Given the description of an element on the screen output the (x, y) to click on. 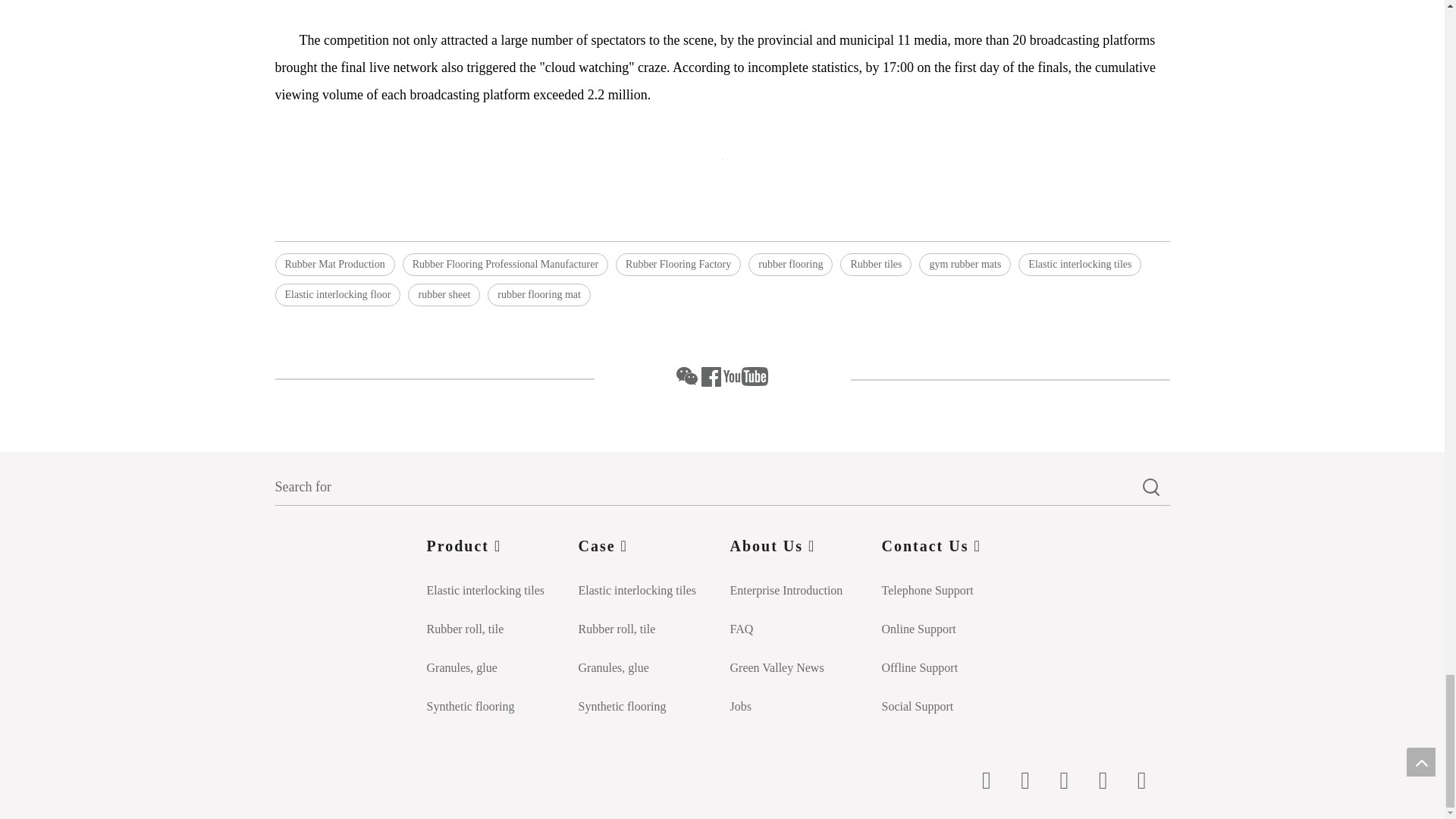
Rubber Mat Production (334, 264)
Rubber Flooring Factory (678, 264)
gym rubber mats (964, 264)
rubber flooring (790, 264)
Rubber Flooring Professional Manufacturer (505, 264)
Rubber tiles (875, 264)
